Given the description of an element on the screen output the (x, y) to click on. 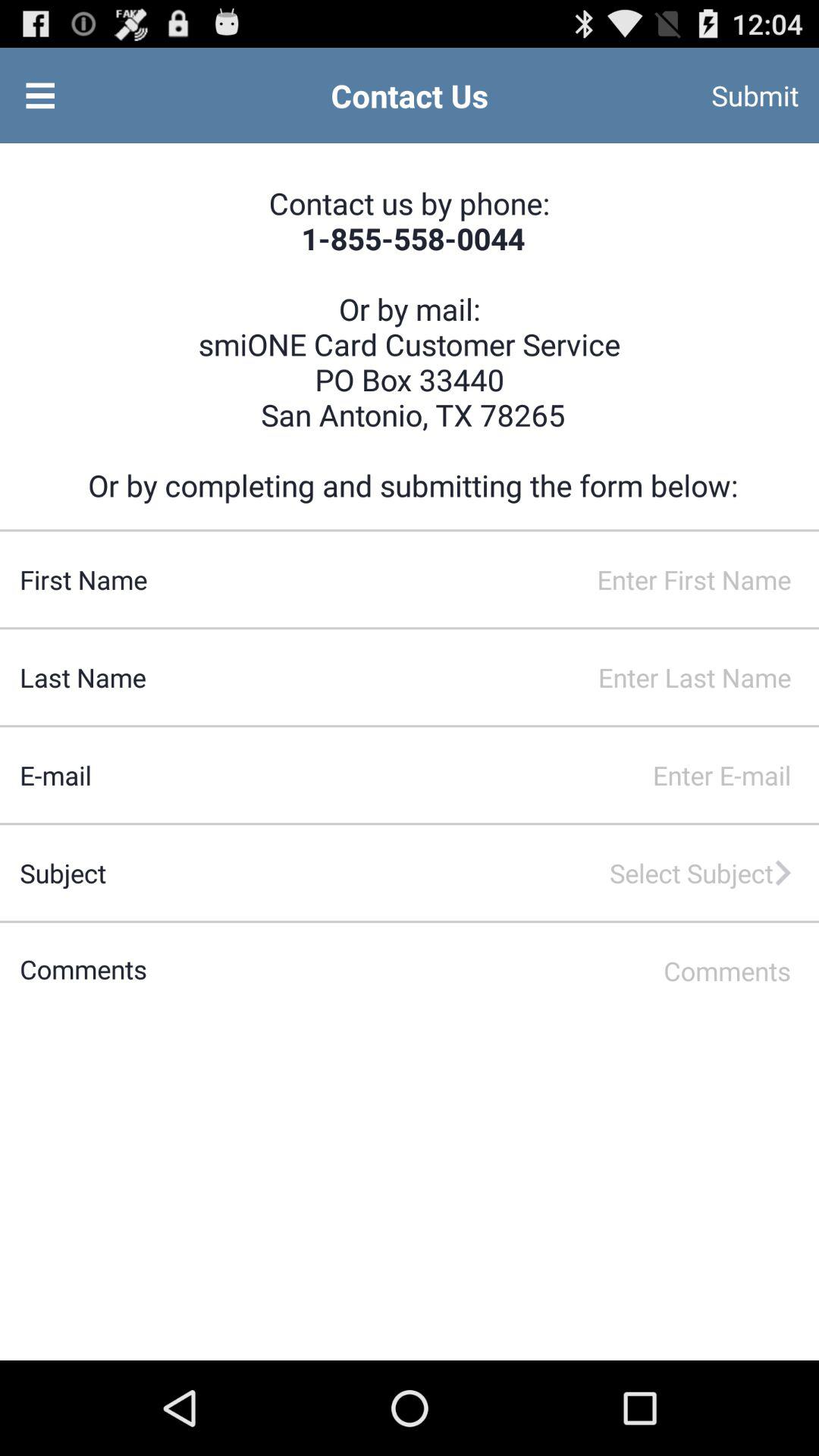
type in an email address (455, 774)
